Given the description of an element on the screen output the (x, y) to click on. 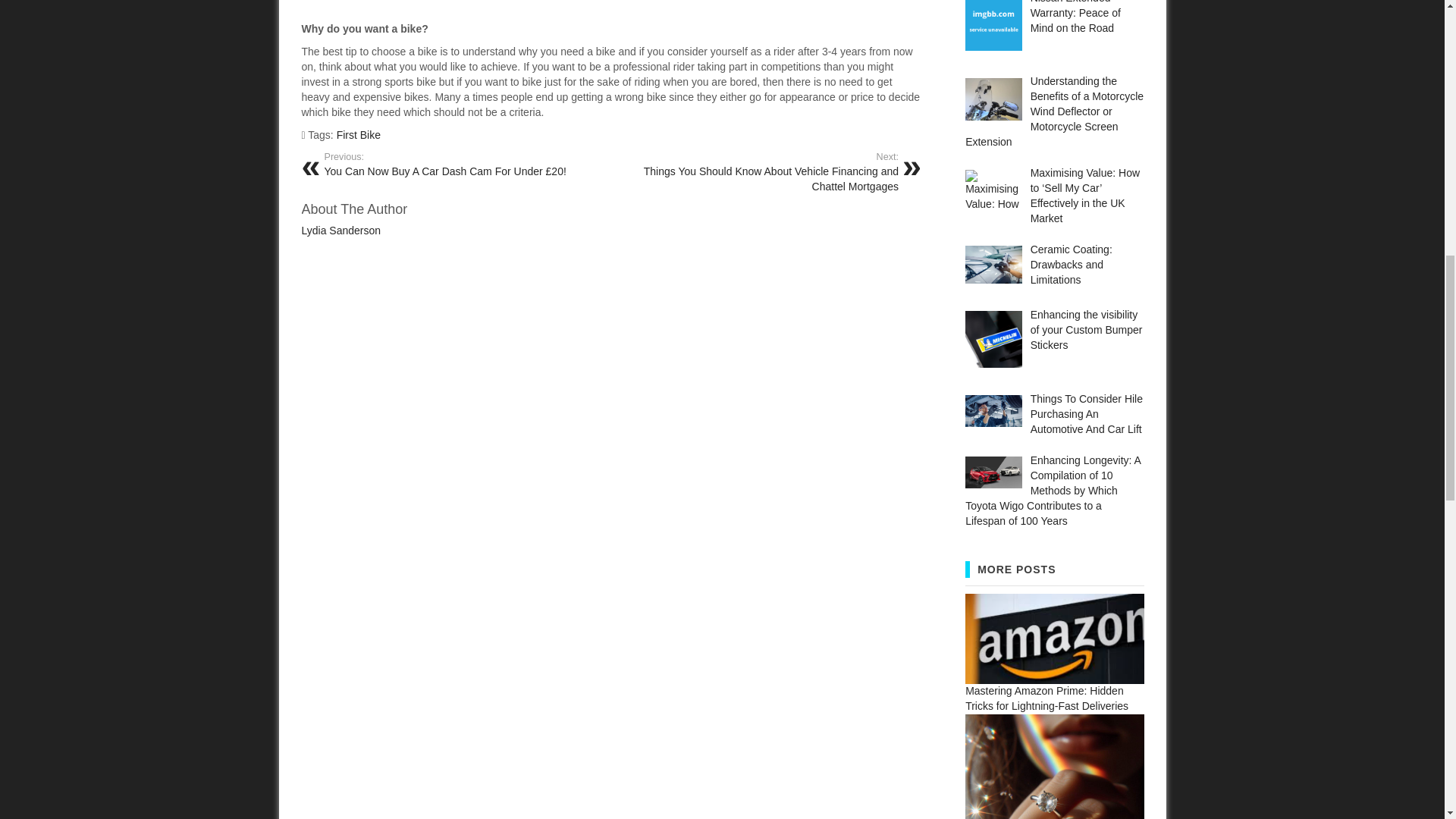
First Bike (358, 134)
